Given the description of an element on the screen output the (x, y) to click on. 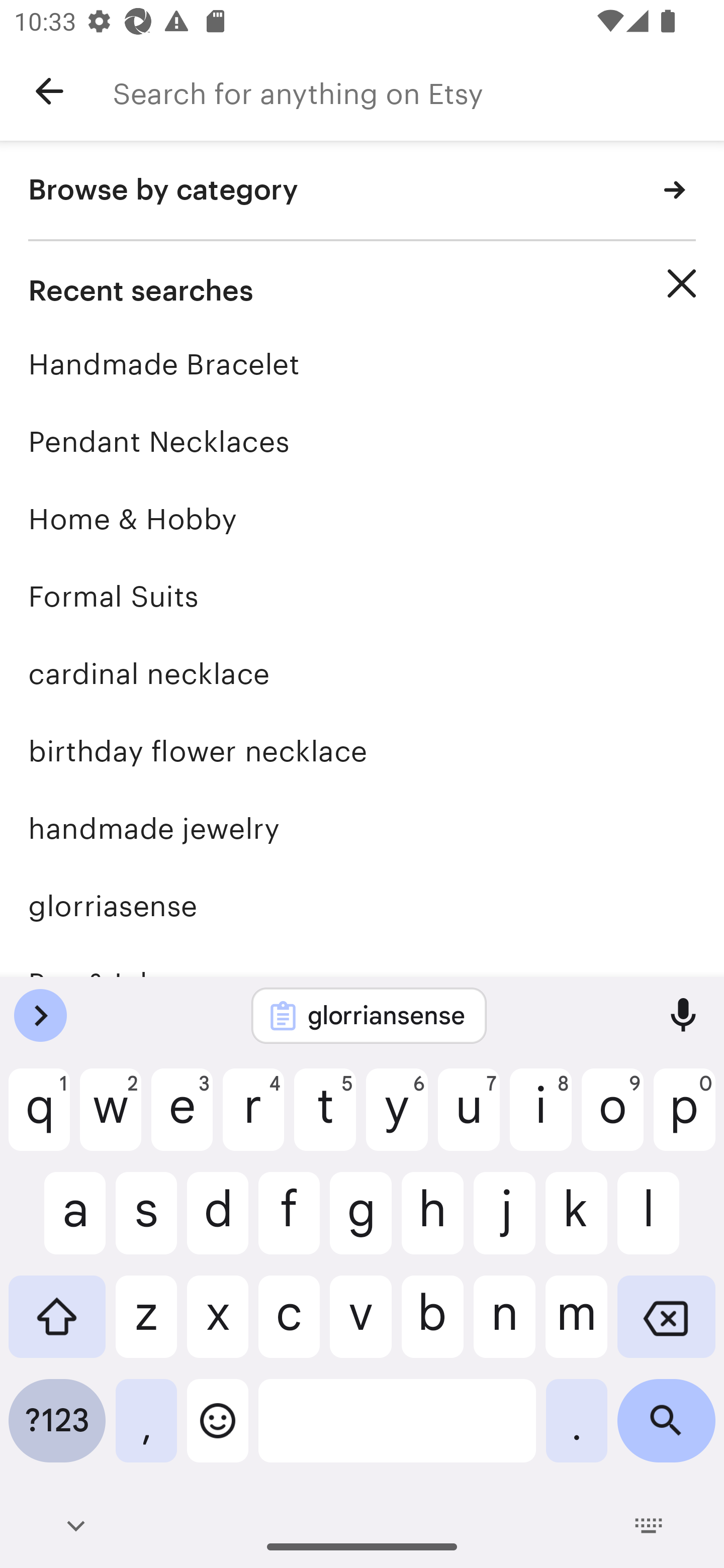
Navigate up (49, 91)
Search for anything on Etsy (418, 91)
Browse by category (362, 191)
Clear (681, 283)
Handmade Bracelet (362, 364)
Pendant Necklaces (362, 440)
Home & Hobby (362, 518)
Formal Suits (362, 596)
cardinal necklace (362, 673)
birthday flower necklace (362, 750)
handmade jewelry (362, 828)
glorriasense (362, 906)
